Given the description of an element on the screen output the (x, y) to click on. 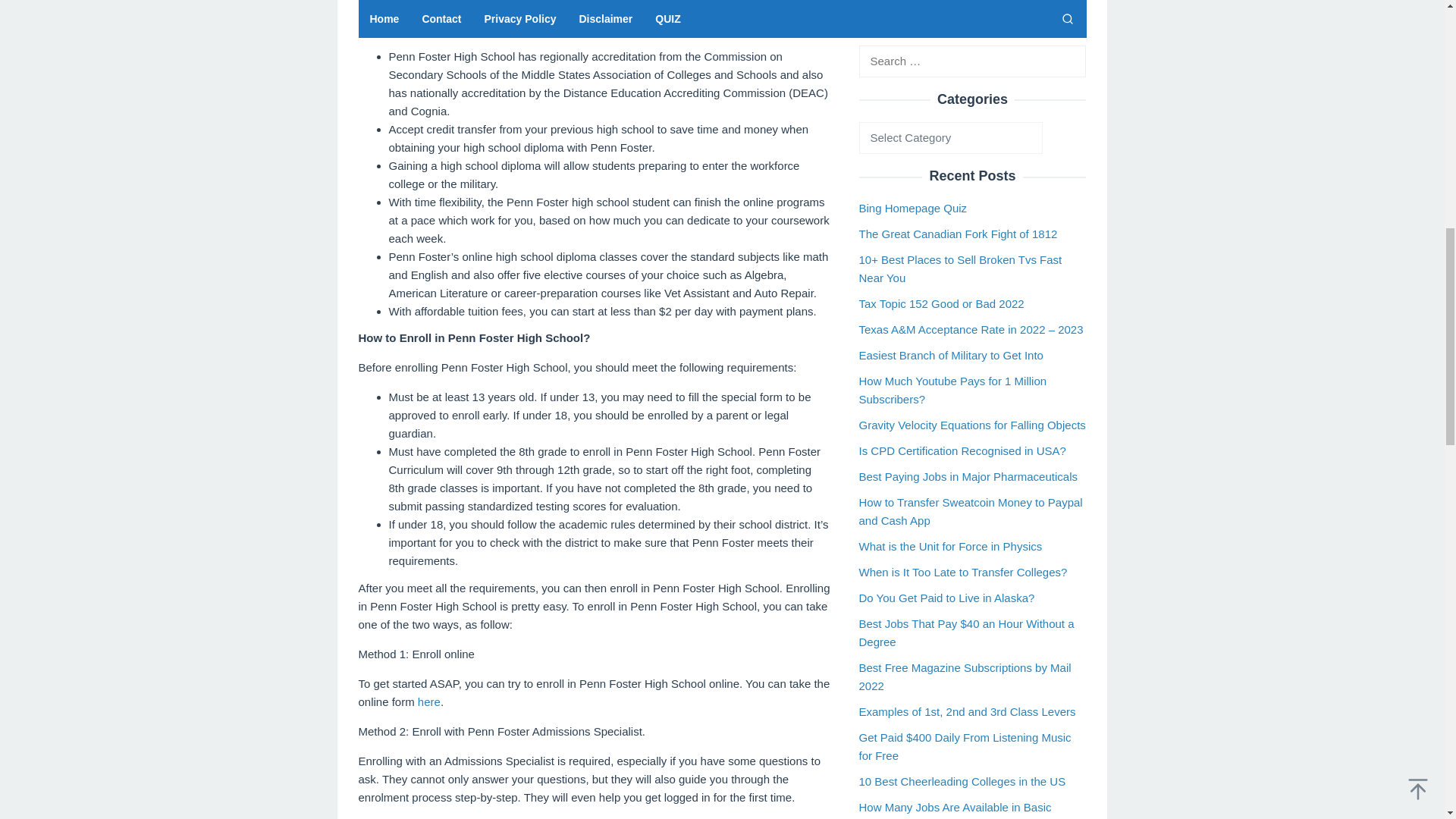
here (427, 701)
